Given the description of an element on the screen output the (x, y) to click on. 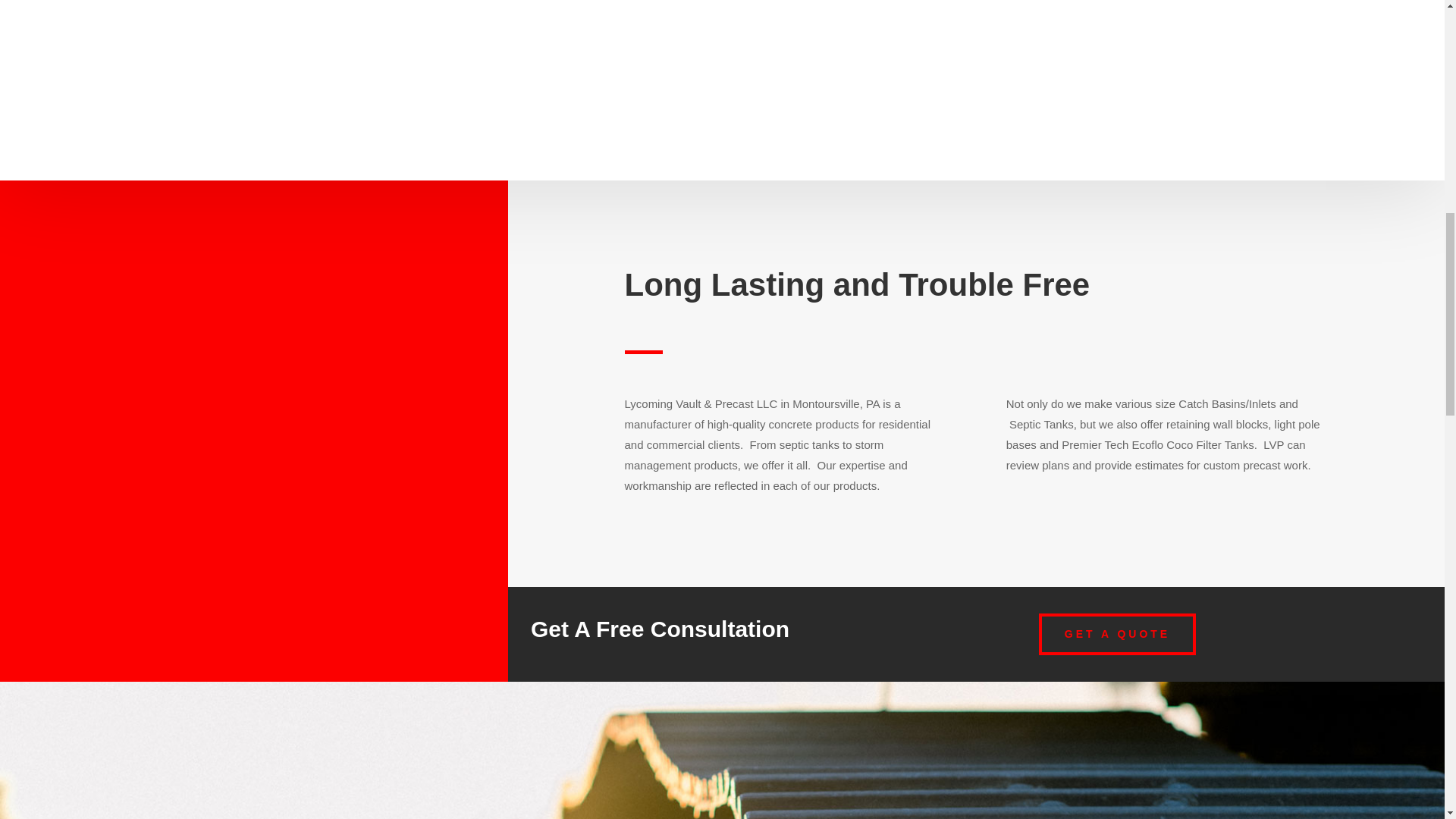
GET A QUOTE (1117, 634)
